Given the description of an element on the screen output the (x, y) to click on. 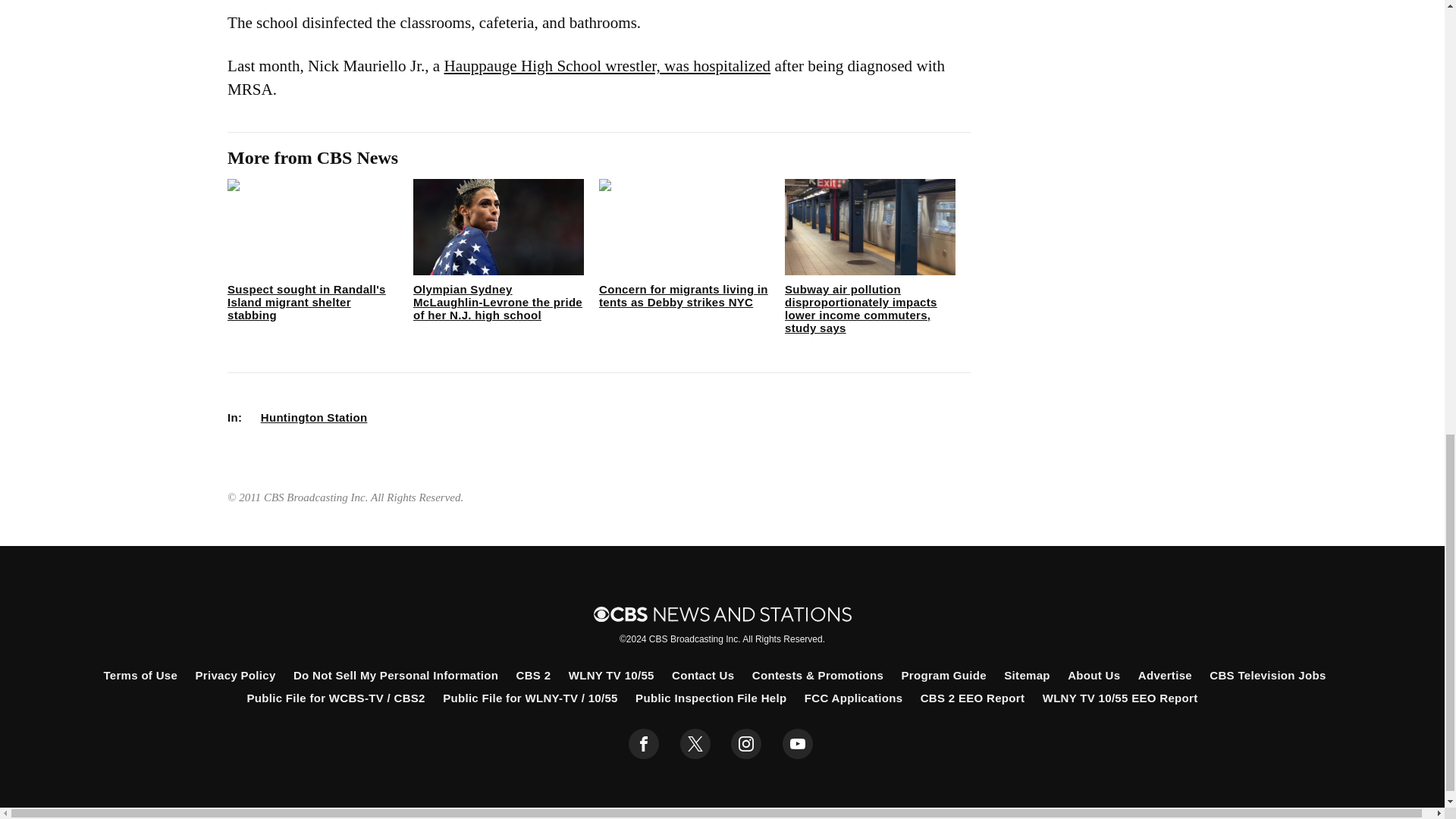
instagram (745, 743)
twitter (694, 743)
youtube (797, 743)
facebook (643, 743)
